Given the description of an element on the screen output the (x, y) to click on. 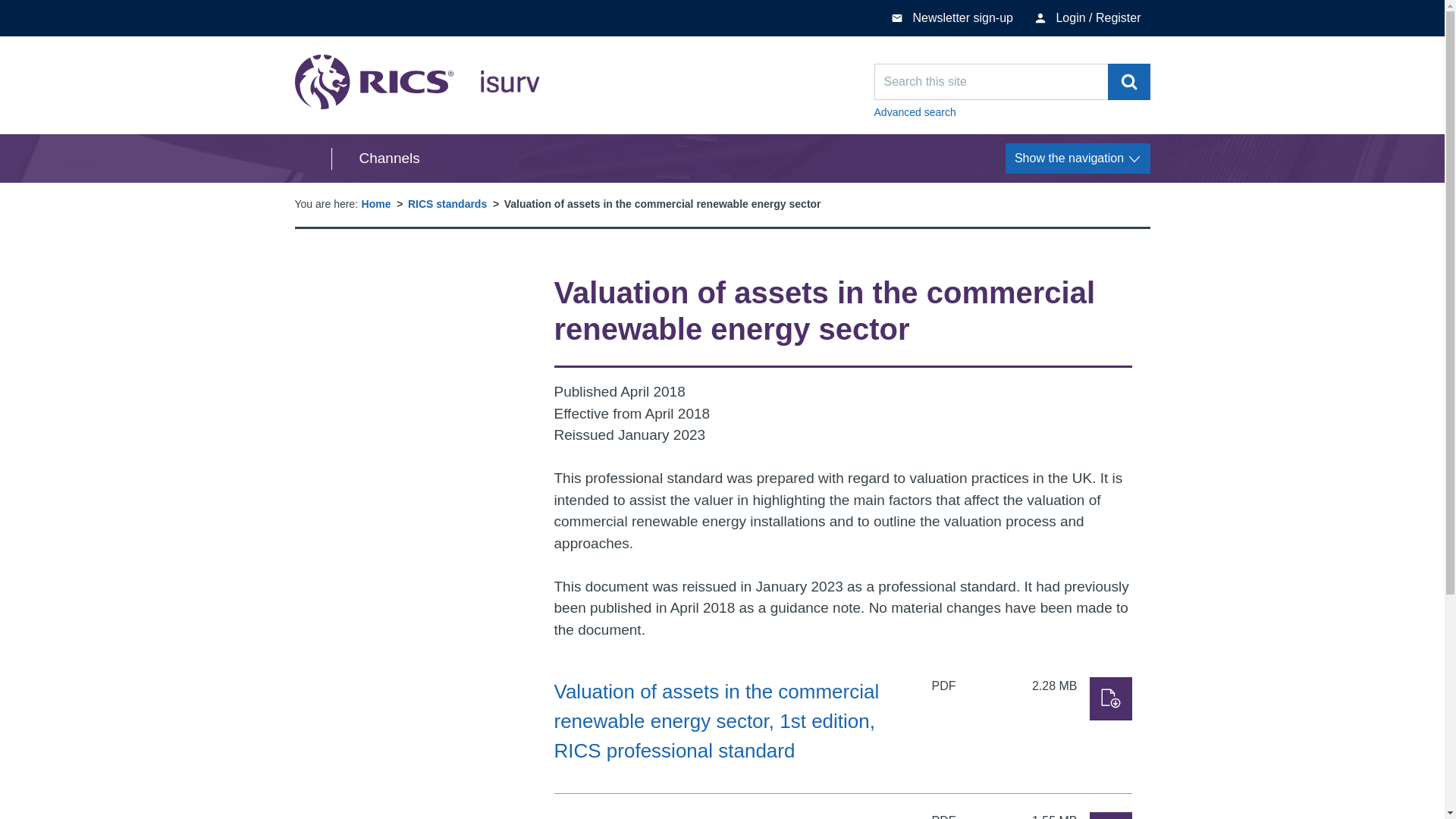
Download (1110, 698)
Channels (374, 158)
Newsletter sign-up (952, 18)
RICS standards (417, 81)
Home (446, 203)
Download (376, 203)
Show the navigation (1110, 815)
Search (1078, 158)
Advanced search (1128, 81)
